Given the description of an element on the screen output the (x, y) to click on. 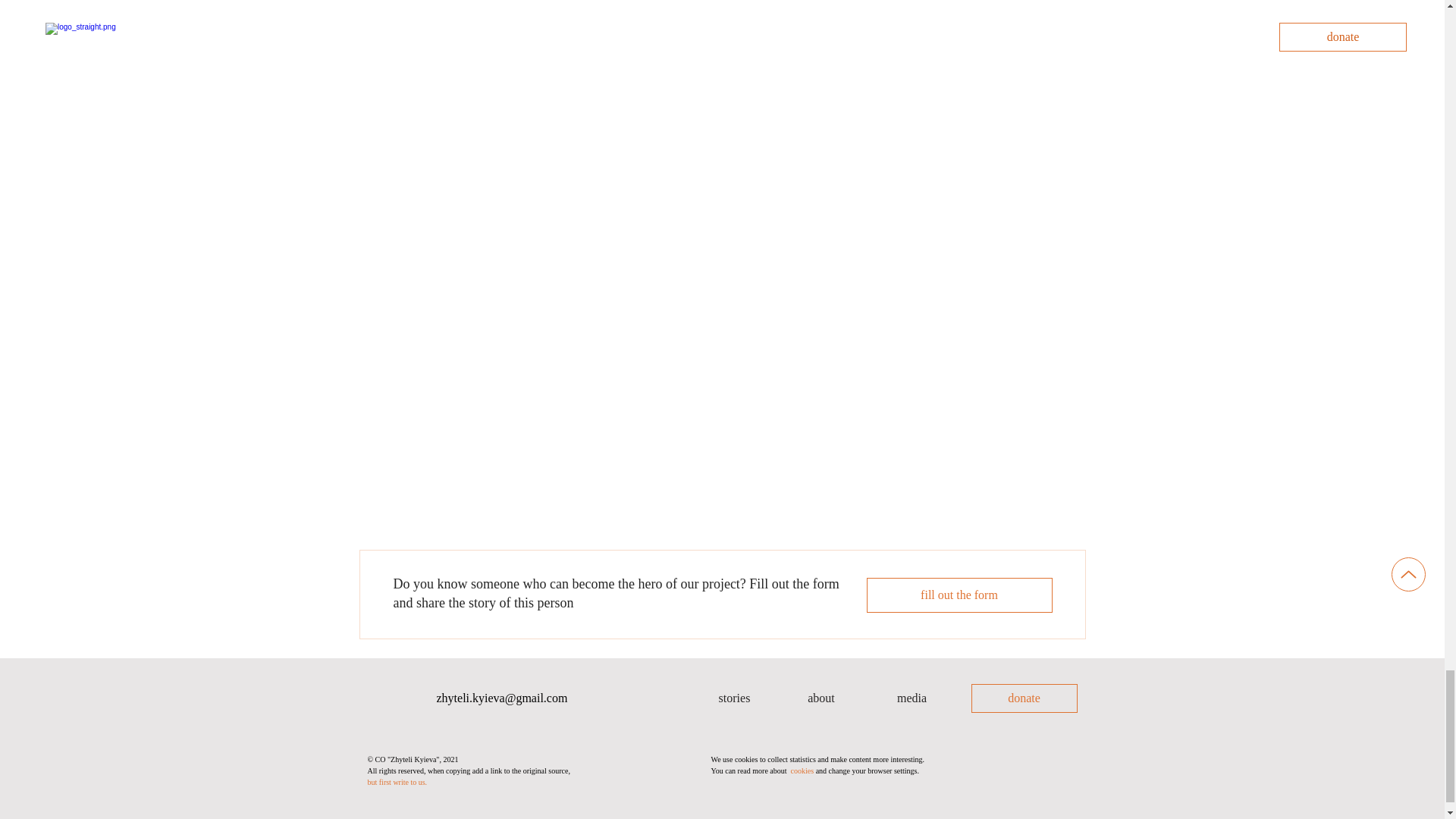
but first write to us. (396, 782)
donate (1024, 697)
cookies (801, 770)
media (911, 697)
fill out the form (958, 595)
about (821, 697)
stories (733, 697)
